Given the description of an element on the screen output the (x, y) to click on. 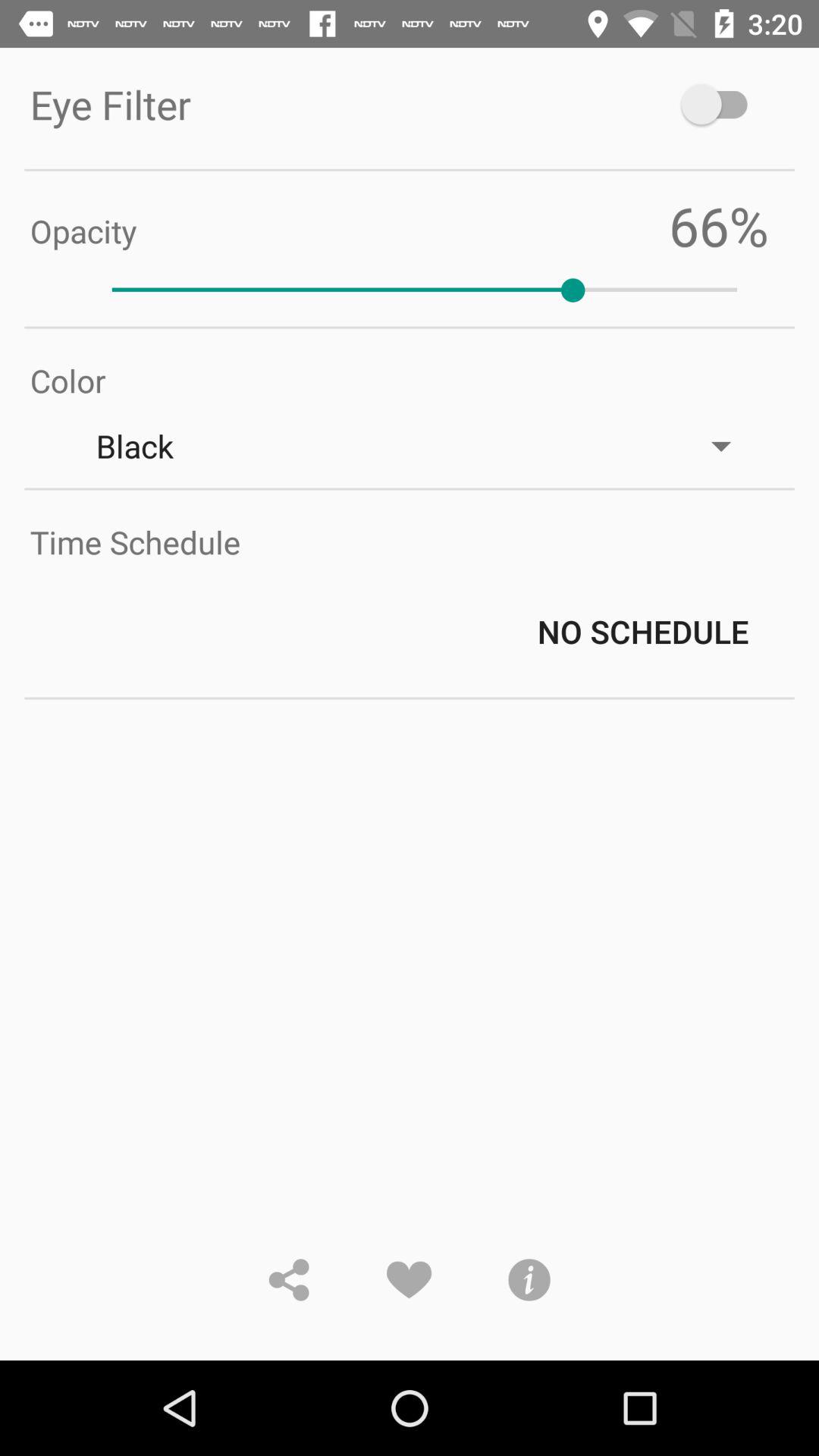
he can activate the simple voice command (721, 104)
